Given the description of an element on the screen output the (x, y) to click on. 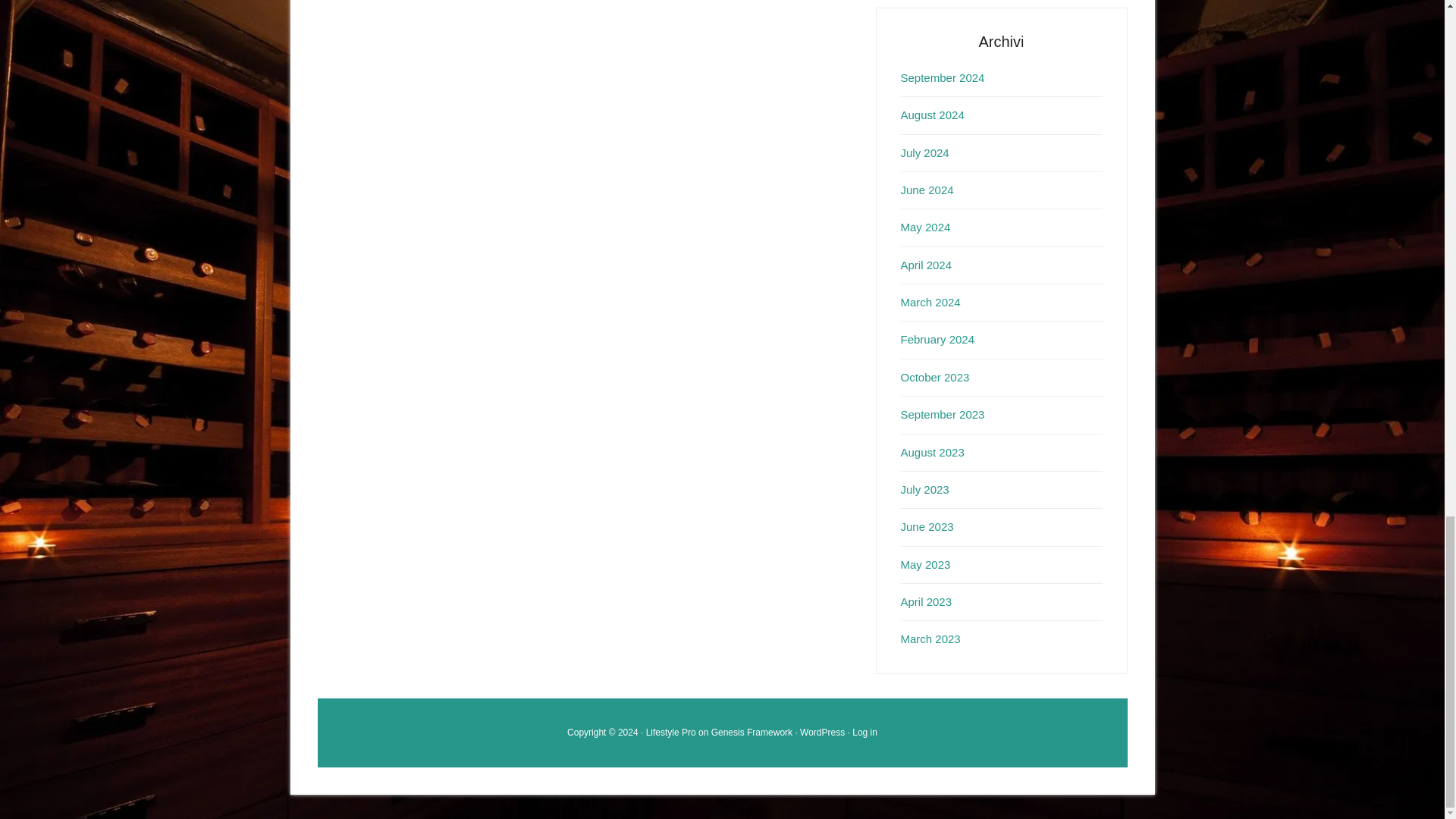
July 2024 (925, 151)
September 2023 (943, 413)
June 2023 (927, 526)
September 2024 (943, 77)
April 2024 (926, 264)
July 2023 (925, 489)
August 2024 (932, 114)
October 2023 (935, 377)
May 2024 (925, 226)
February 2024 (938, 338)
